Given the description of an element on the screen output the (x, y) to click on. 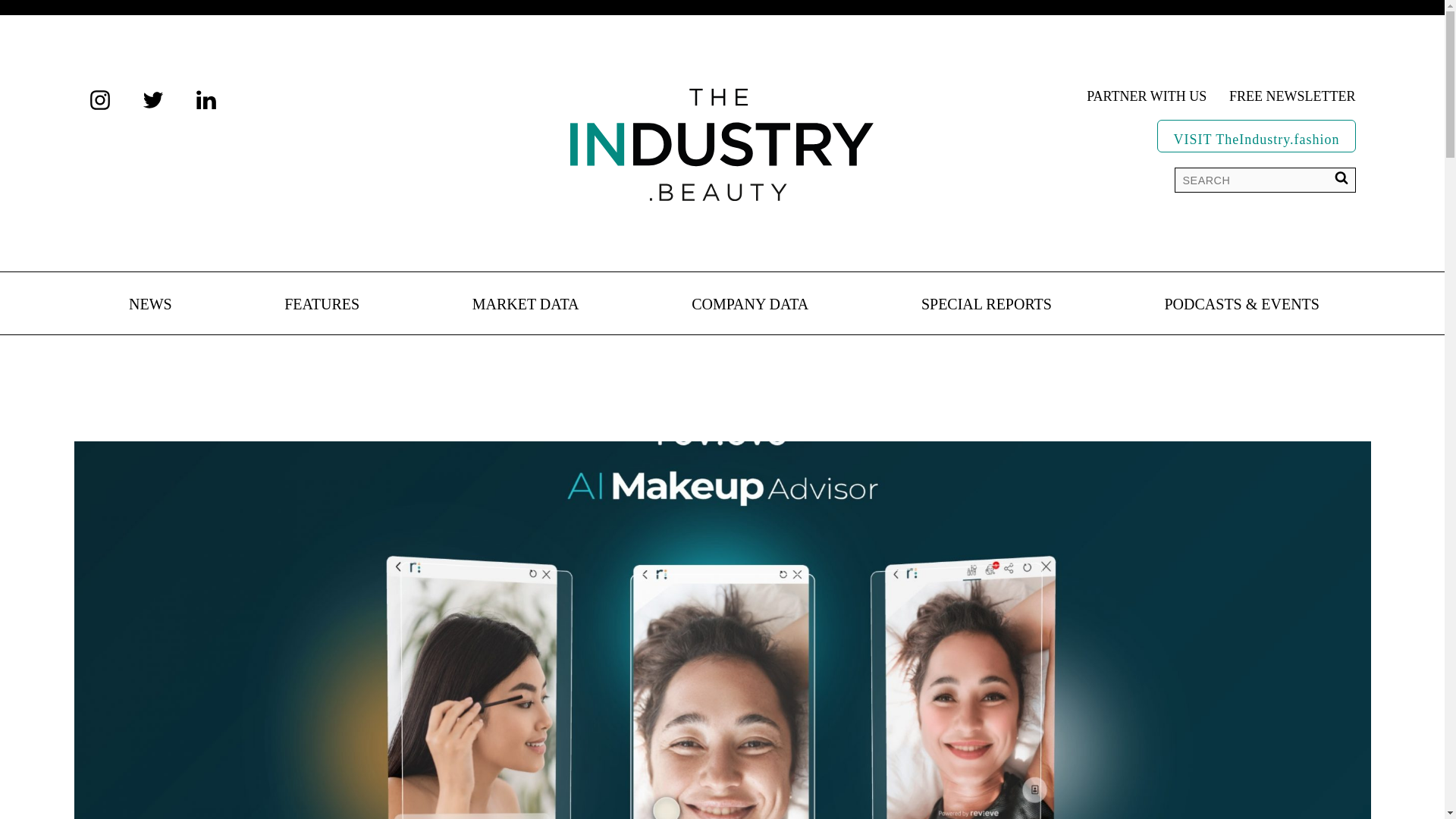
COMPANY DATA (749, 305)
NEWS (150, 305)
FEATURES (321, 305)
VISIT TheIndustry.fashion (1256, 135)
SPECIAL REPORTS (986, 305)
Go (22, 15)
MARKET DATA (525, 305)
FREE NEWSLETTER (1291, 96)
PARTNER WITH US (1146, 96)
